Given the description of an element on the screen output the (x, y) to click on. 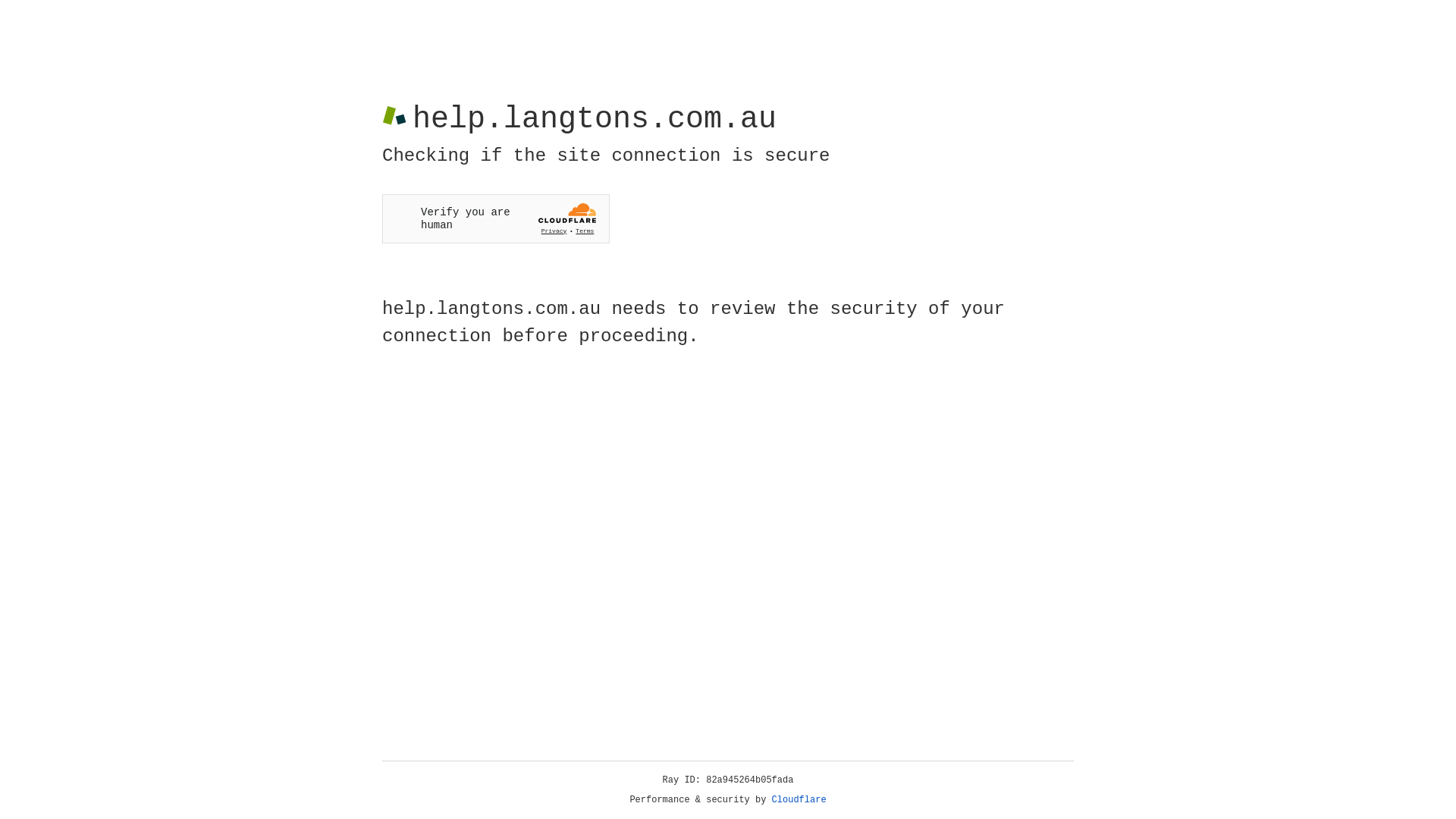
Cloudflare Element type: text (798, 799)
Widget containing a Cloudflare security challenge Element type: hover (495, 218)
